Given the description of an element on the screen output the (x, y) to click on. 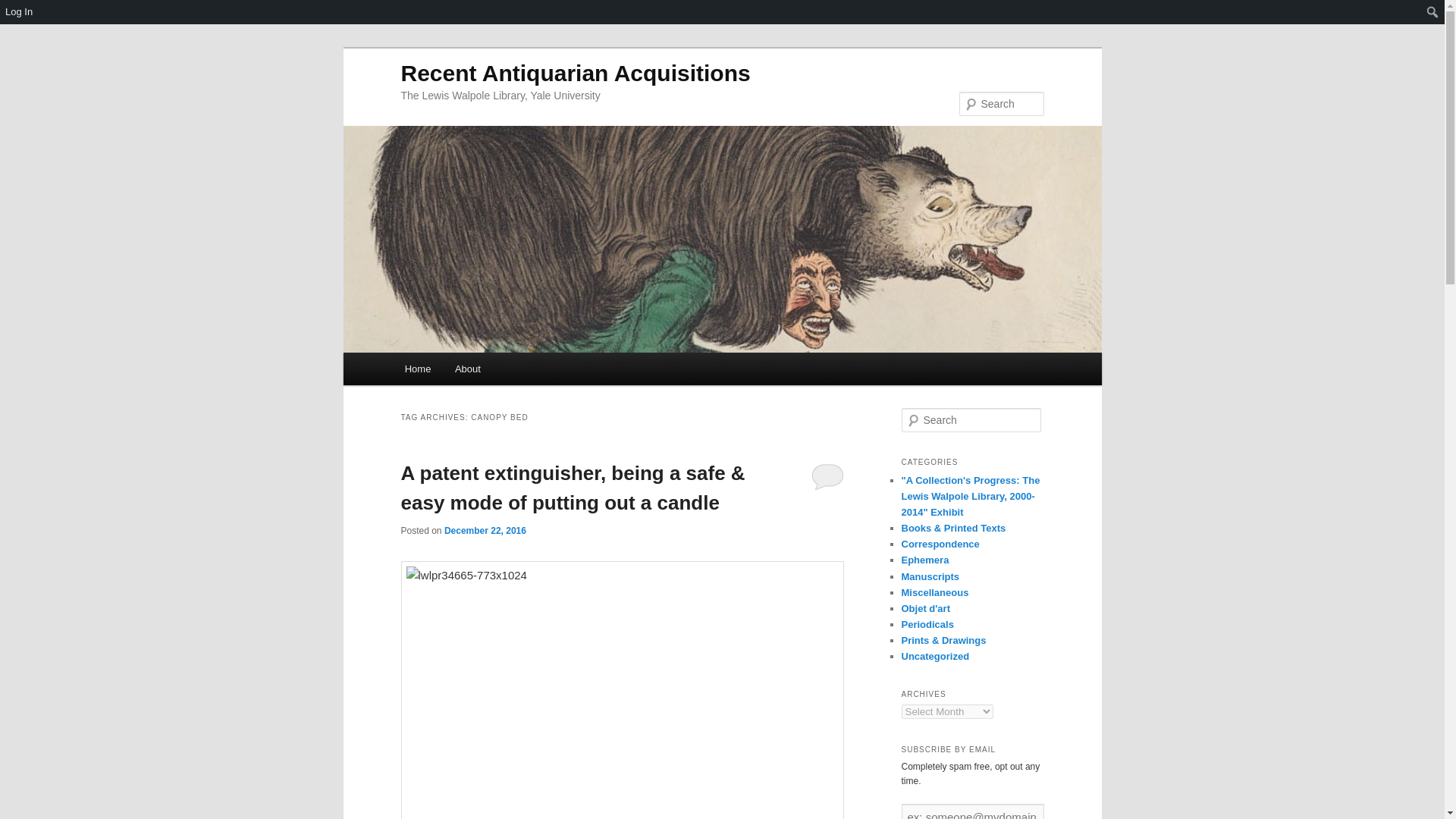
12:58 pm (484, 530)
Search (24, 8)
Ephemera (925, 559)
Correspondence (939, 543)
About (467, 368)
Search (21, 11)
Home (417, 368)
Search (16, 13)
